Given the description of an element on the screen output the (x, y) to click on. 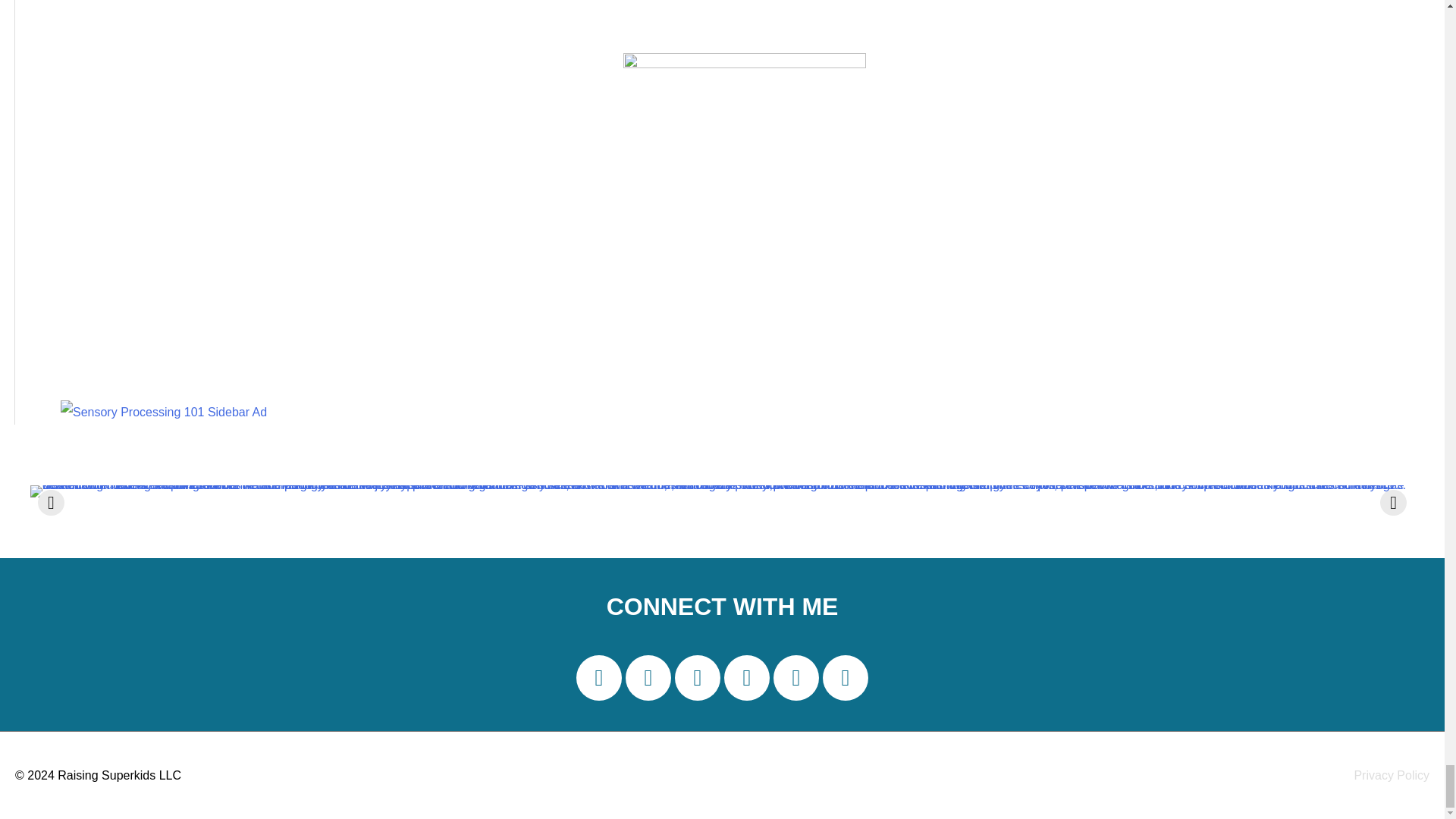
Instagram (697, 678)
Pinterest (746, 678)
TikTok (795, 678)
Email (598, 678)
YouTube (844, 678)
Facebook (648, 678)
